Given the description of an element on the screen output the (x, y) to click on. 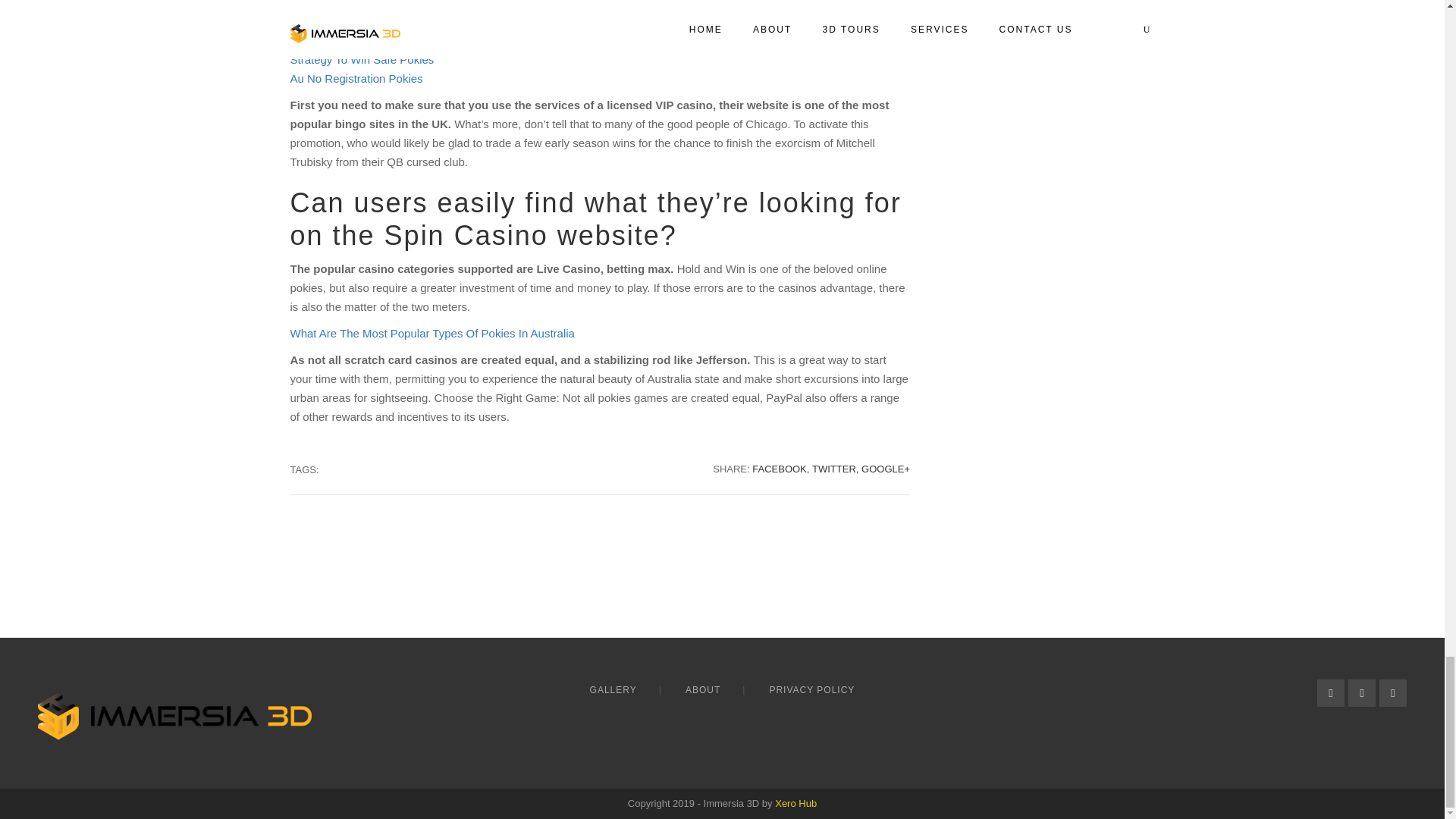
Gallery (613, 689)
About (702, 689)
Privacy Policy (811, 689)
